Given the description of an element on the screen output the (x, y) to click on. 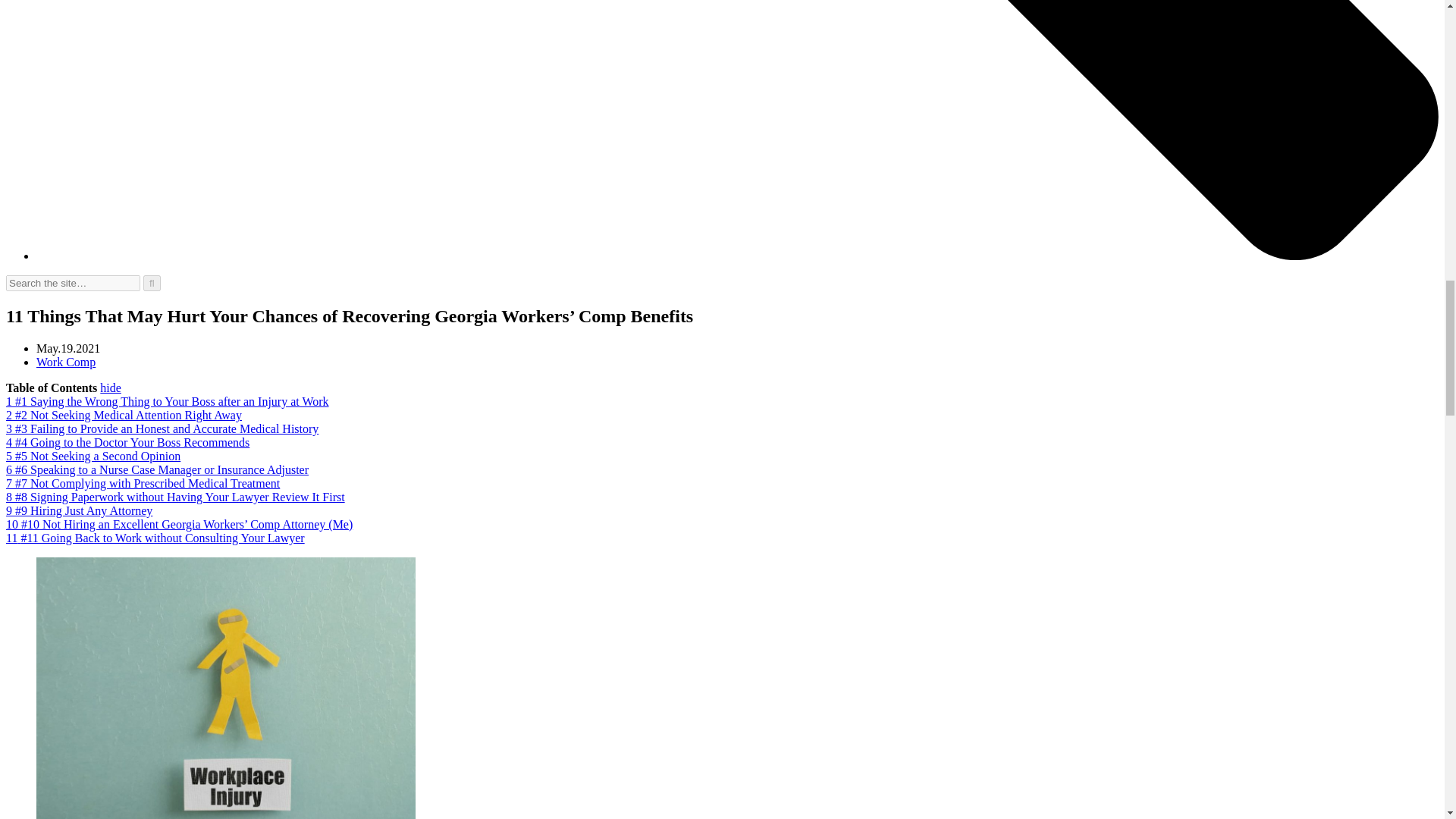
Work Comp (66, 361)
Search for: (72, 283)
hide (110, 387)
Work Comp (66, 361)
